Given the description of an element on the screen output the (x, y) to click on. 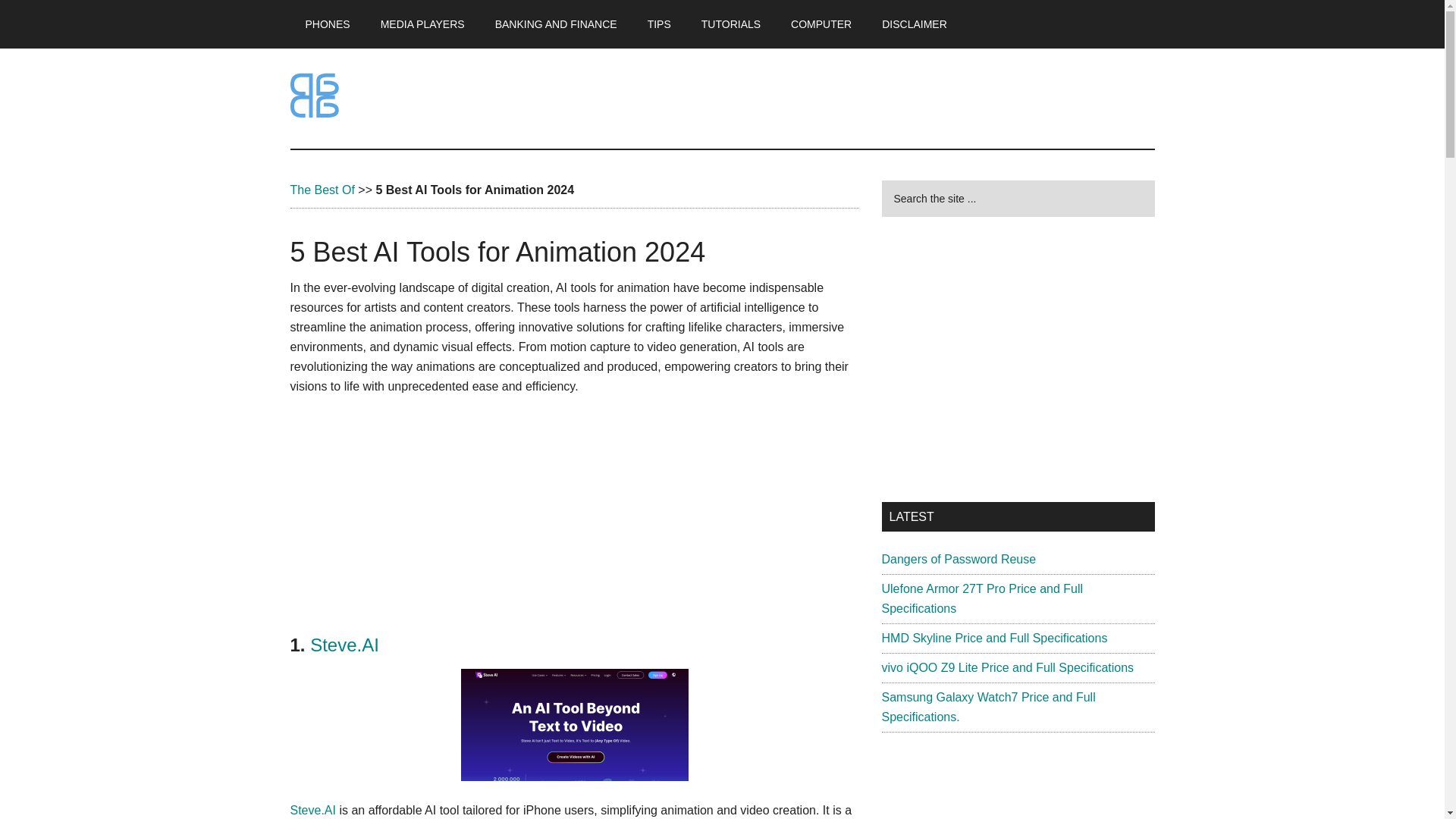
Steve.AI (311, 809)
TIPS (658, 24)
BANKING AND FINANCE (555, 24)
The best AI Tools for Animation 1 (574, 725)
Advertisement (1017, 359)
DISCLAIMER (914, 24)
Steve.AI (344, 644)
MEDIA PLAYERS (422, 24)
PHONES (327, 24)
